Given the description of an element on the screen output the (x, y) to click on. 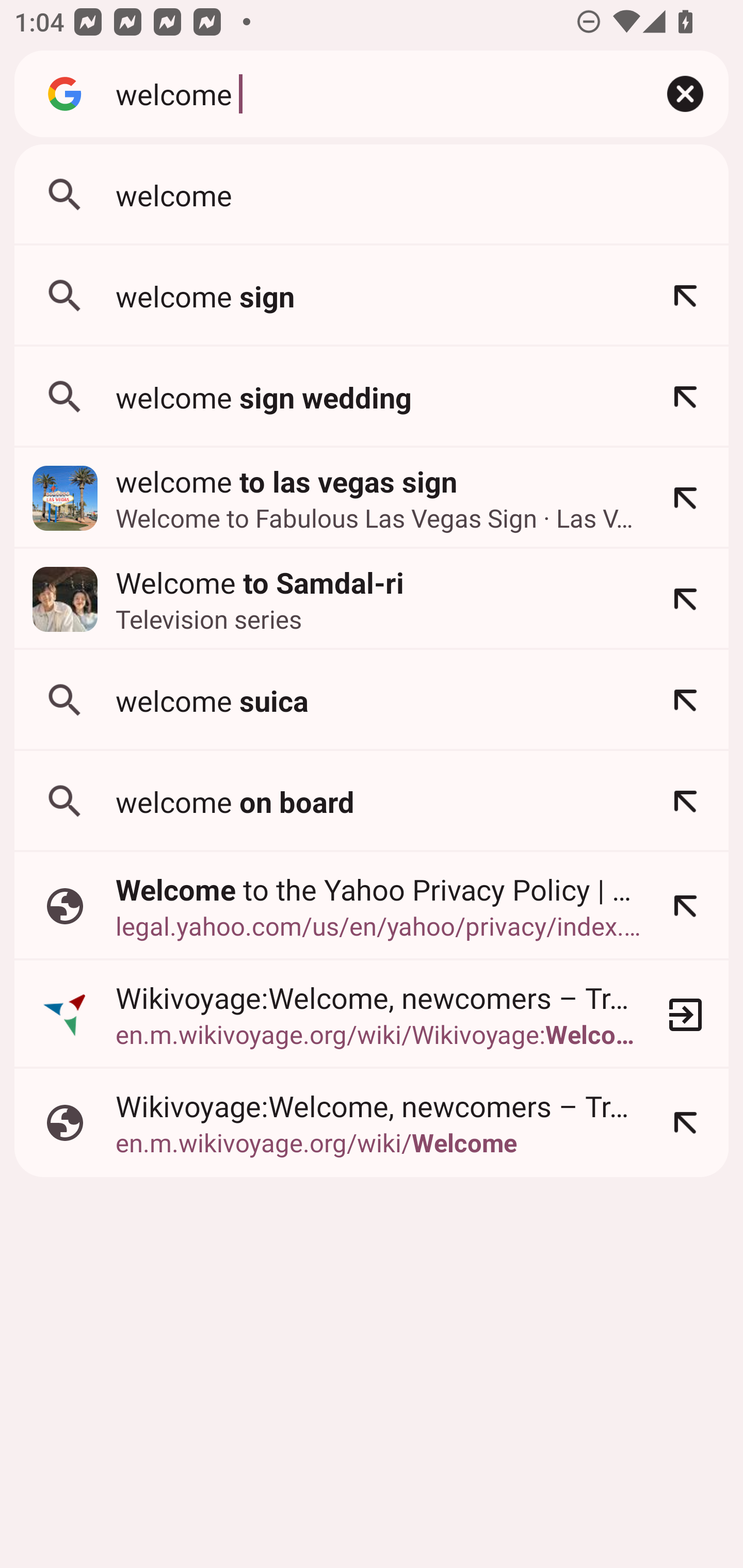
Clear input (684, 93)
welcome  (367, 92)
welcome (371, 195)
welcome sign Refine: welcome sign (371, 296)
Refine: welcome sign (684, 296)
welcome sign wedding Refine: welcome sign wedding (371, 397)
Refine: welcome sign wedding (684, 397)
Refine: welcome to las vegas sign (684, 498)
Refine: welcome to samdalri (684, 598)
welcome suica Refine: welcome suica (371, 700)
Refine: welcome suica (684, 700)
welcome on board Refine: welcome on board (371, 801)
Refine: welcome on board (684, 801)
Switch To Tab (684, 1014)
Refine: https://en.m.wikivoyage.org/wiki/Welcome (684, 1123)
